Given the description of an element on the screen output the (x, y) to click on. 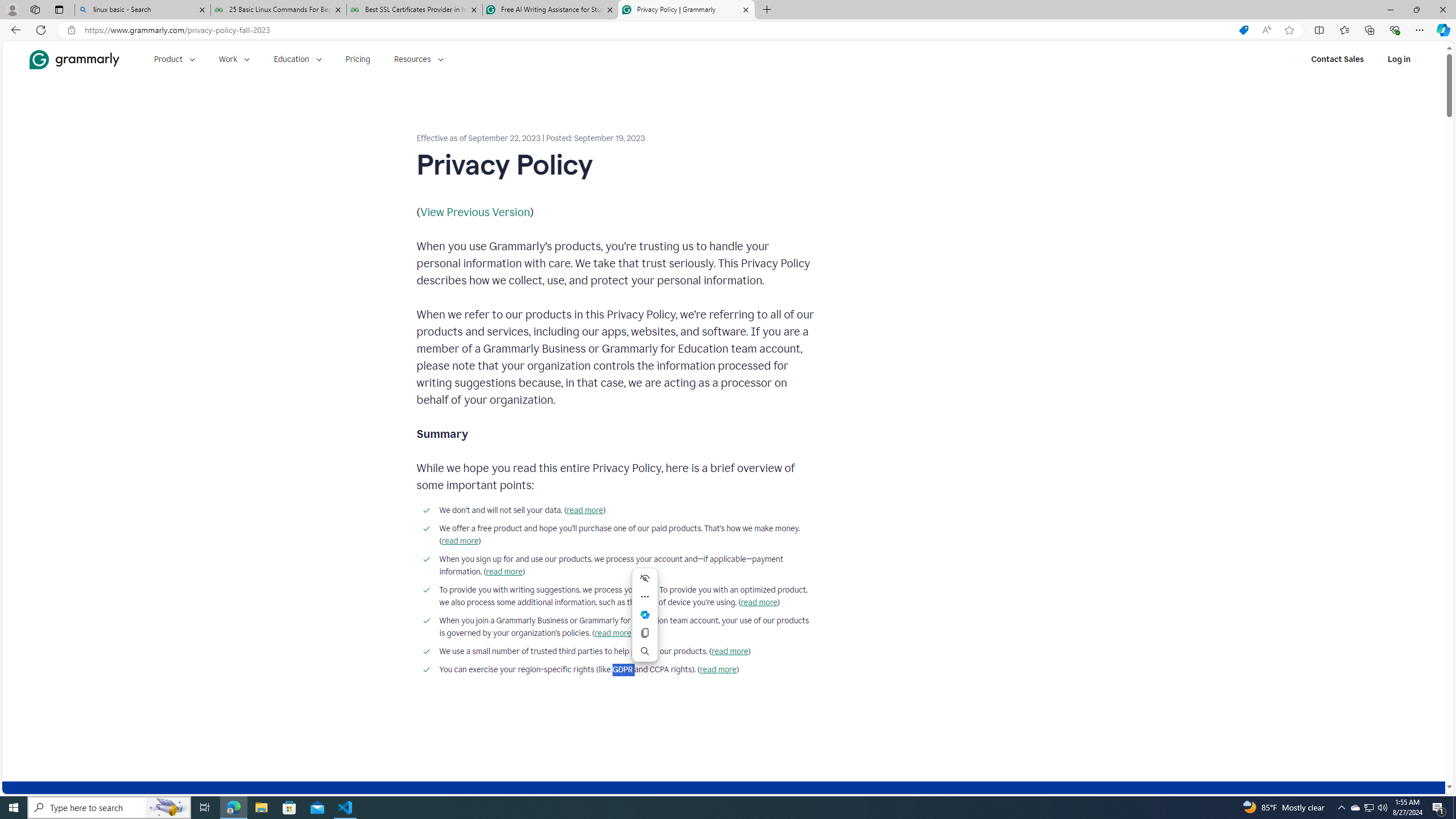
Mini menu on text selection (644, 614)
Best SSL Certificates Provider in India - GeeksforGeeks (414, 9)
Contact Sales (1337, 58)
linux basic - Search (142, 9)
25 Basic Linux Commands For Beginners - GeeksforGeeks (277, 9)
Grammarly Home (74, 59)
Log in (1399, 58)
More actions (644, 596)
